Given the description of an element on the screen output the (x, y) to click on. 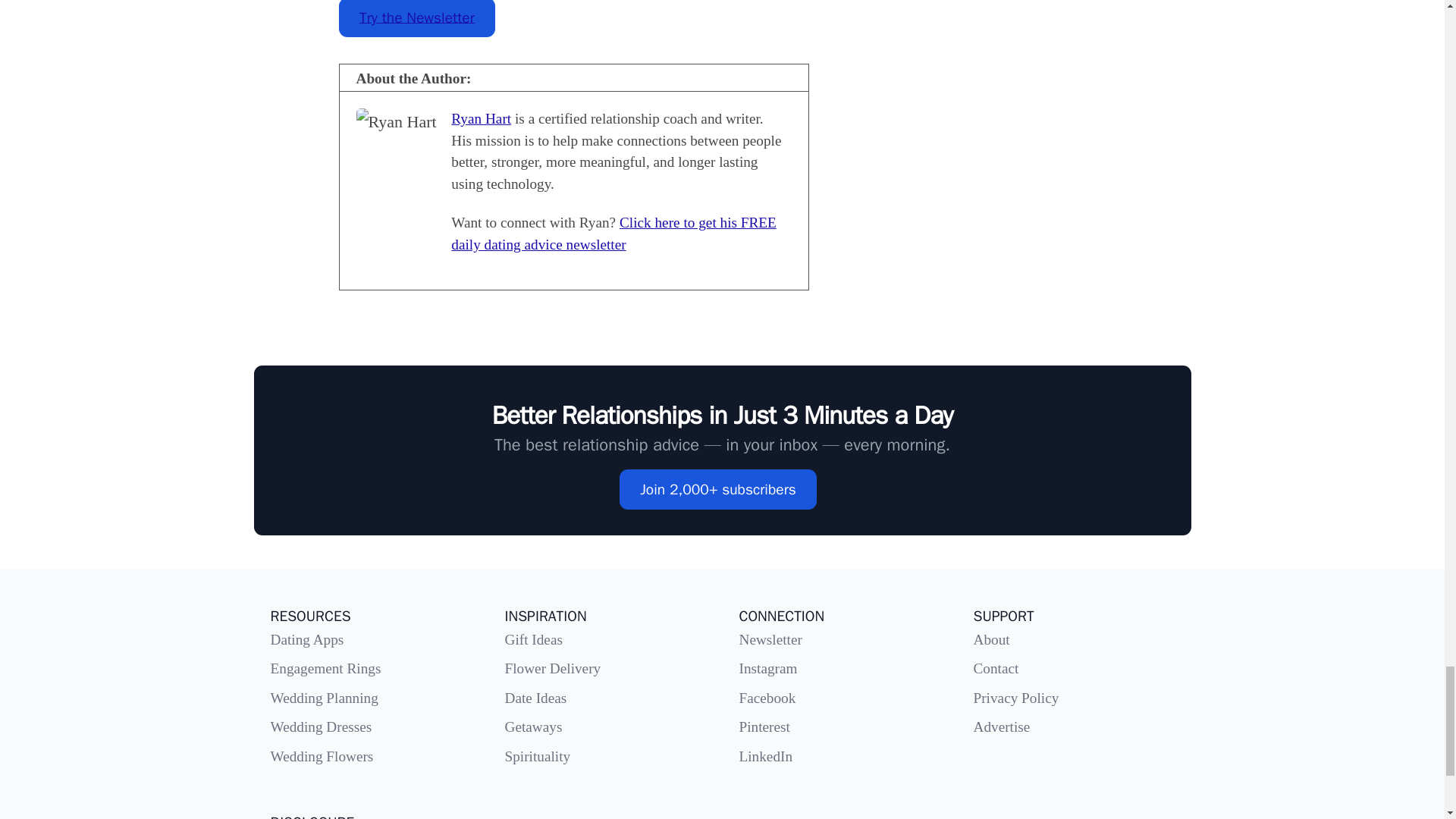
About (992, 639)
LinkedIn (765, 756)
Date Ideas (536, 697)
Facebook (766, 697)
Try the Newsletter (416, 18)
Wedding Planning (323, 697)
Dating Apps (306, 639)
Contact (996, 668)
Instagram (767, 668)
Click here to get his FREE daily dating advice newsletter (613, 233)
Flower Delivery (553, 668)
Gift Ideas (533, 639)
Pinterest (763, 726)
Spirituality (537, 756)
Wedding Flowers (320, 756)
